Given the description of an element on the screen output the (x, y) to click on. 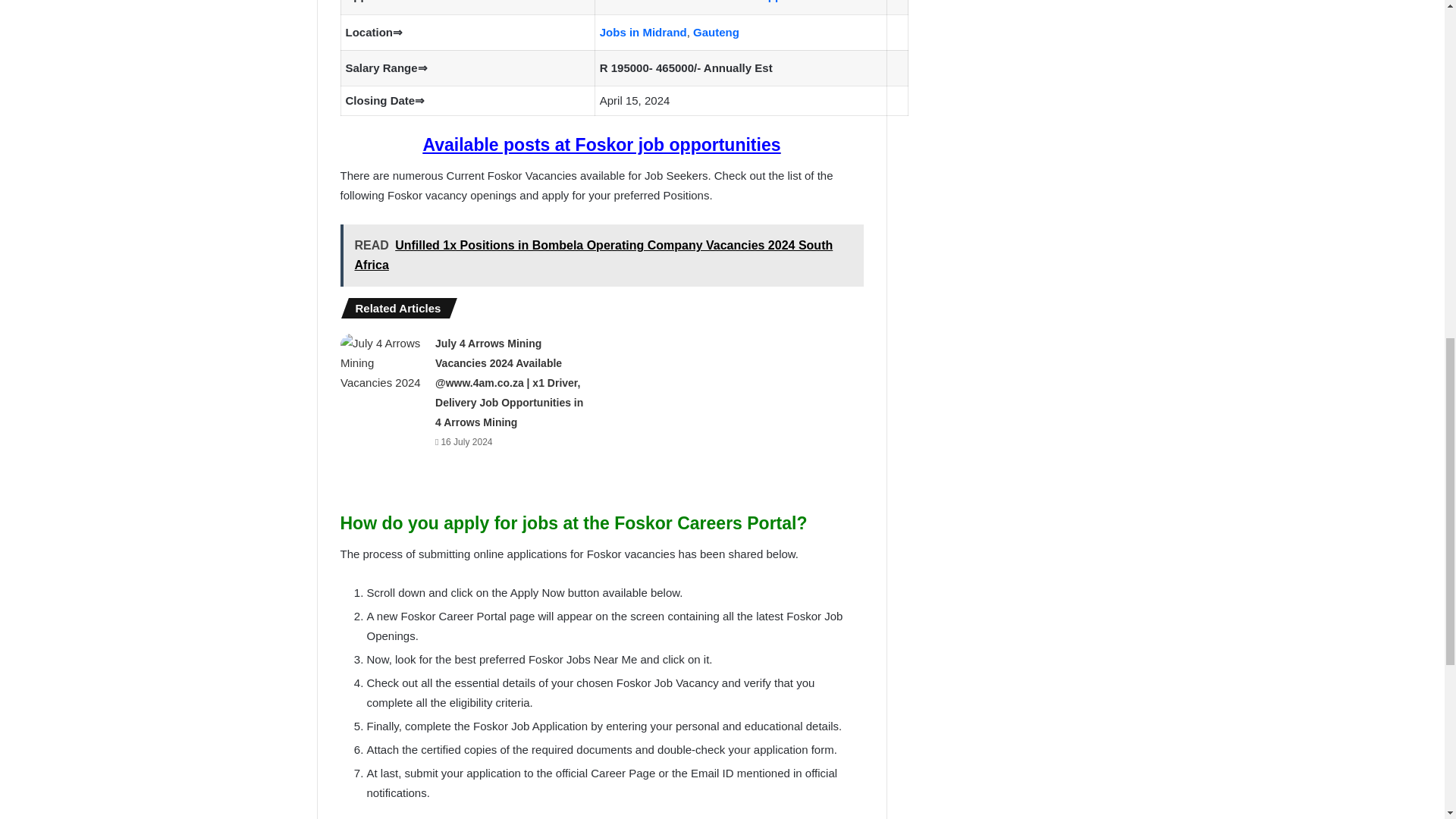
Gauteng (716, 31)
Jobs in Midrand (643, 31)
